Given the description of an element on the screen output the (x, y) to click on. 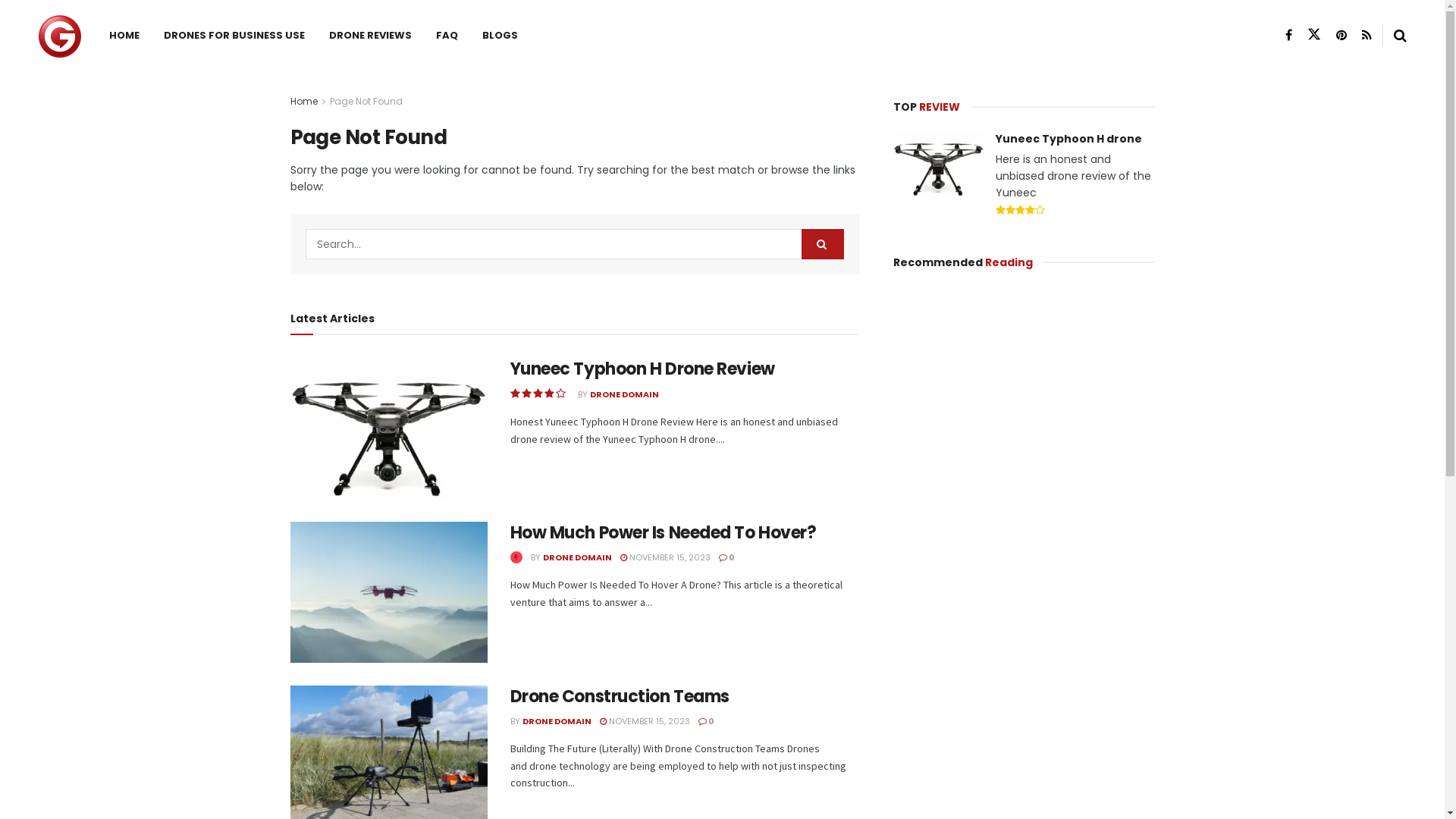
DRONE DOMAIN Element type: text (623, 394)
0 Element type: text (726, 557)
DRONE DOMAIN Element type: text (576, 557)
Page Not Found Element type: text (365, 100)
FAQ Element type: text (446, 35)
Yuneec Typhoon H drone Element type: text (1067, 138)
HOME Element type: text (124, 35)
0 Element type: text (705, 721)
BLOGS Element type: text (500, 35)
NOVEMBER 15, 2023 Element type: text (644, 721)
DRONE REVIEWS Element type: text (369, 35)
Home Element type: text (302, 100)
How Much Power Is Needed To Hover? Element type: text (662, 532)
NOVEMBER 15, 2023 Element type: text (665, 557)
Yuneec Typhoon H Drone Review Element type: text (641, 368)
Drone Construction Teams Element type: text (618, 696)
DRONES FOR BUSINESS USE Element type: text (233, 35)
DRONE DOMAIN Element type: text (555, 721)
